Given the description of an element on the screen output the (x, y) to click on. 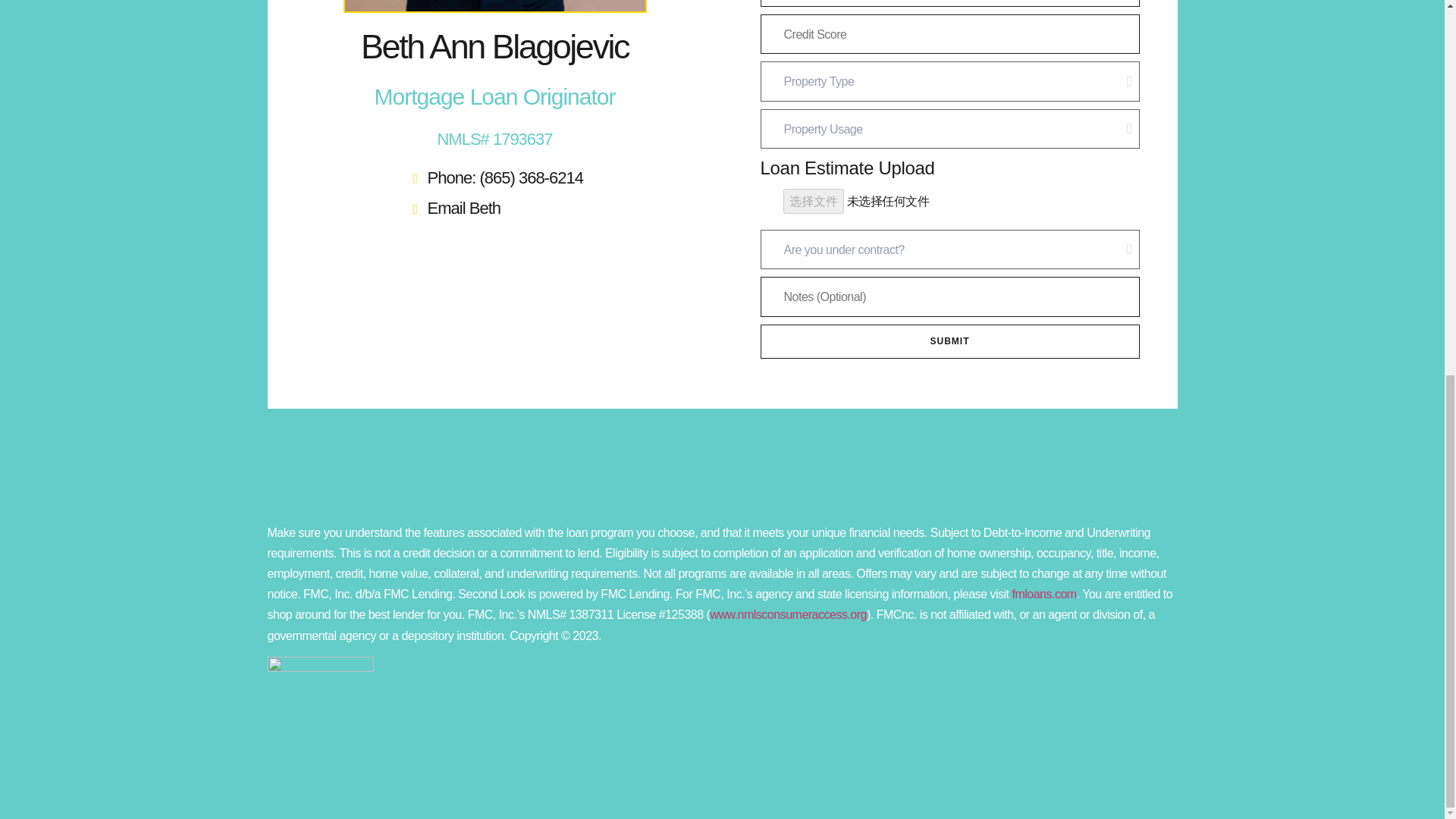
Email Beth (494, 208)
fmloans.com (1043, 594)
www.nmlsconsumeraccess.org (788, 614)
SUBMIT (949, 341)
